Given the description of an element on the screen output the (x, y) to click on. 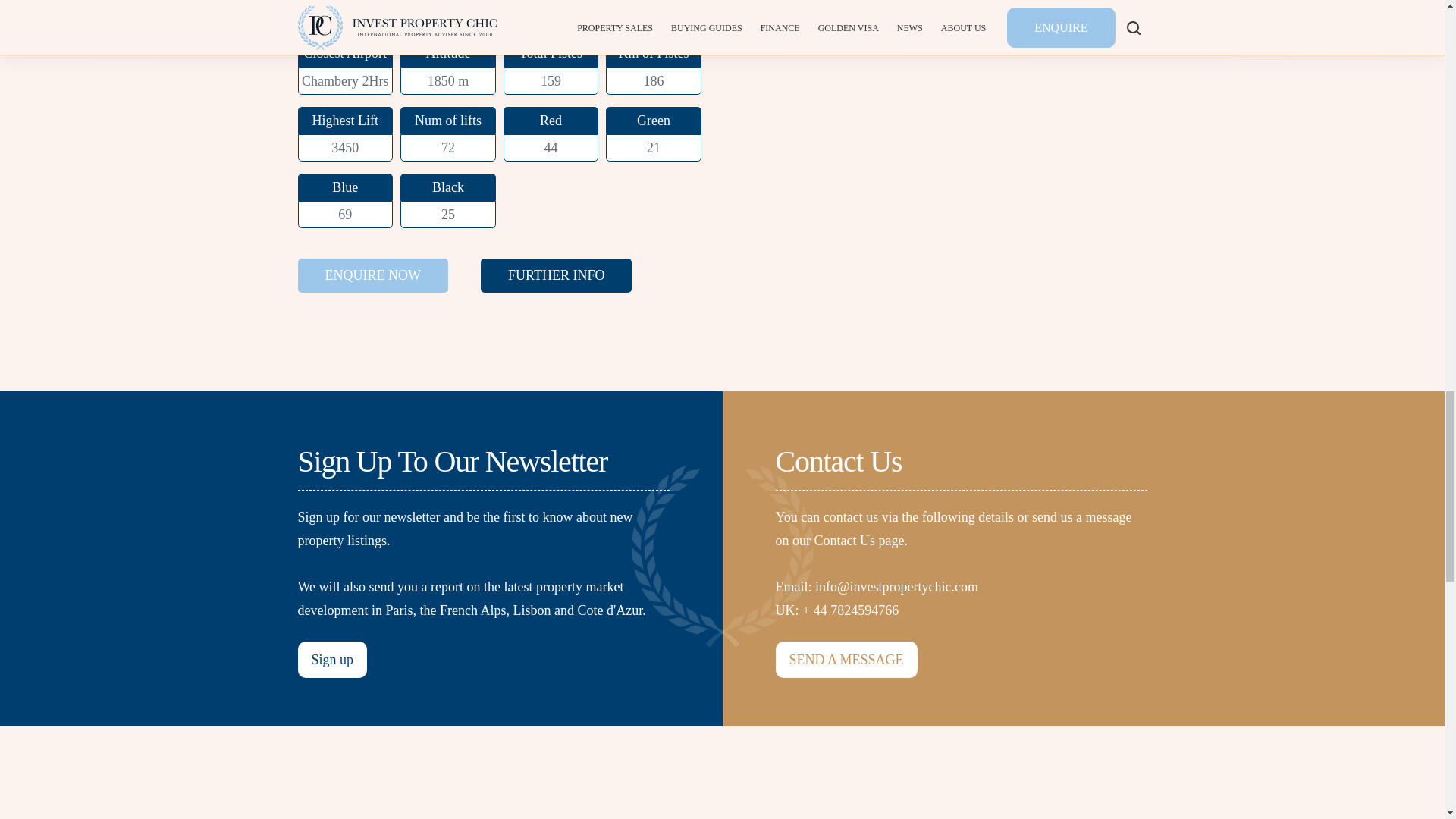
SEND A MESSAGE (845, 659)
FURTHER INFO (555, 275)
ENQUIRE NOW (371, 275)
Sign up (331, 659)
